Given the description of an element on the screen output the (x, y) to click on. 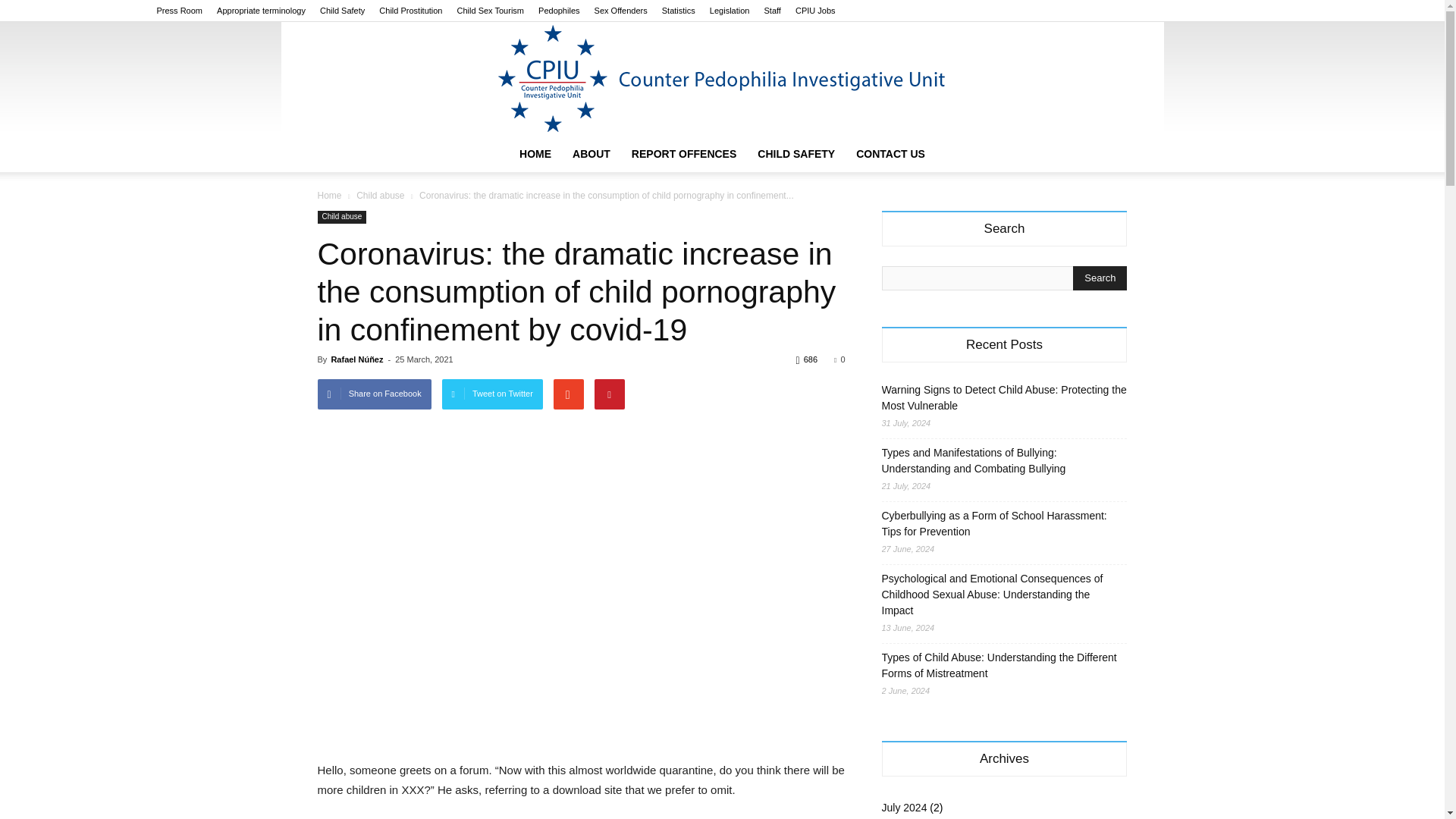
REPORT OFFENCES (683, 153)
View all posts in Child abuse (380, 195)
CHILD SAFETY (795, 153)
HOME (535, 153)
CPIU Jobs (814, 10)
CONTACT US (890, 153)
Legislation (729, 10)
Child abuse (341, 216)
Statistics (678, 10)
Tweet on Twitter (492, 394)
